Given the description of an element on the screen output the (x, y) to click on. 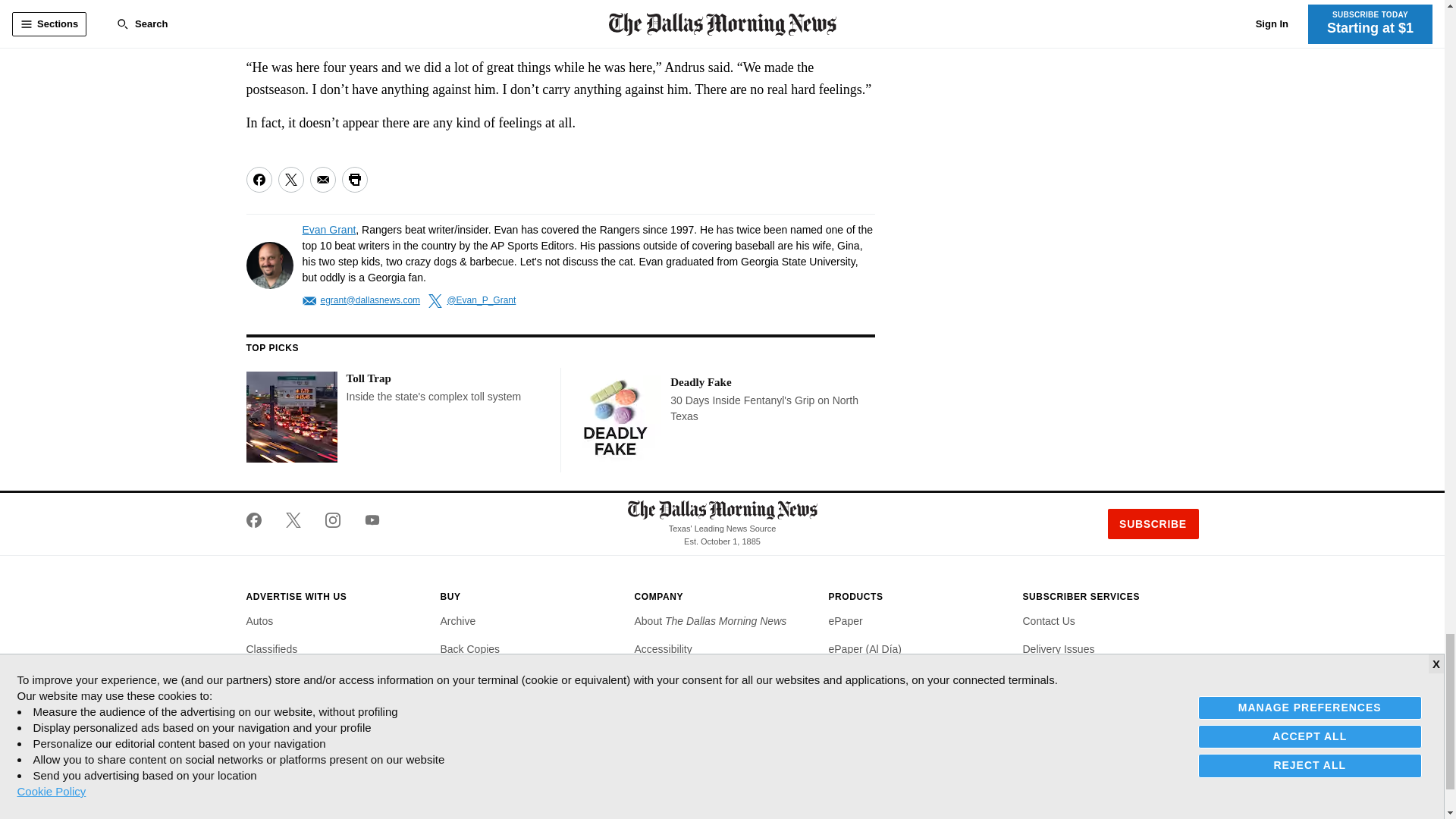
Share on Facebook (258, 179)
Share on Twitter (290, 179)
The Dallas Morning News on Instagram (332, 519)
The Dallas Morning News on YouTube (365, 519)
The Dallas Morning News on Twitter (293, 519)
The Dallas Morning News on Facebook (259, 519)
Print (353, 179)
Share via Email (321, 179)
